Given the description of an element on the screen output the (x, y) to click on. 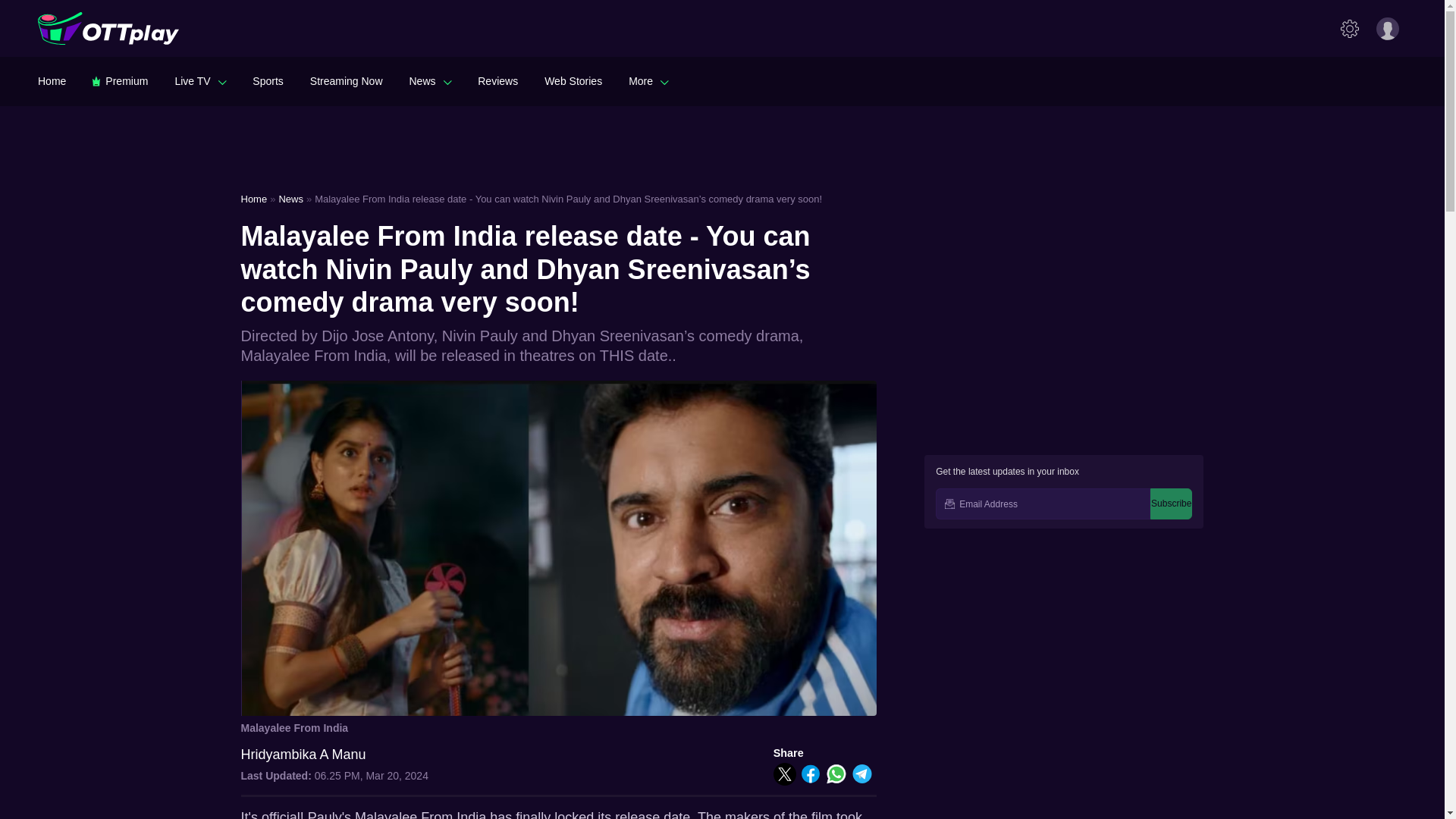
News (430, 80)
Premium (120, 80)
Streaming Now (346, 80)
Live TV (199, 80)
Web Stories (573, 80)
